Given the description of an element on the screen output the (x, y) to click on. 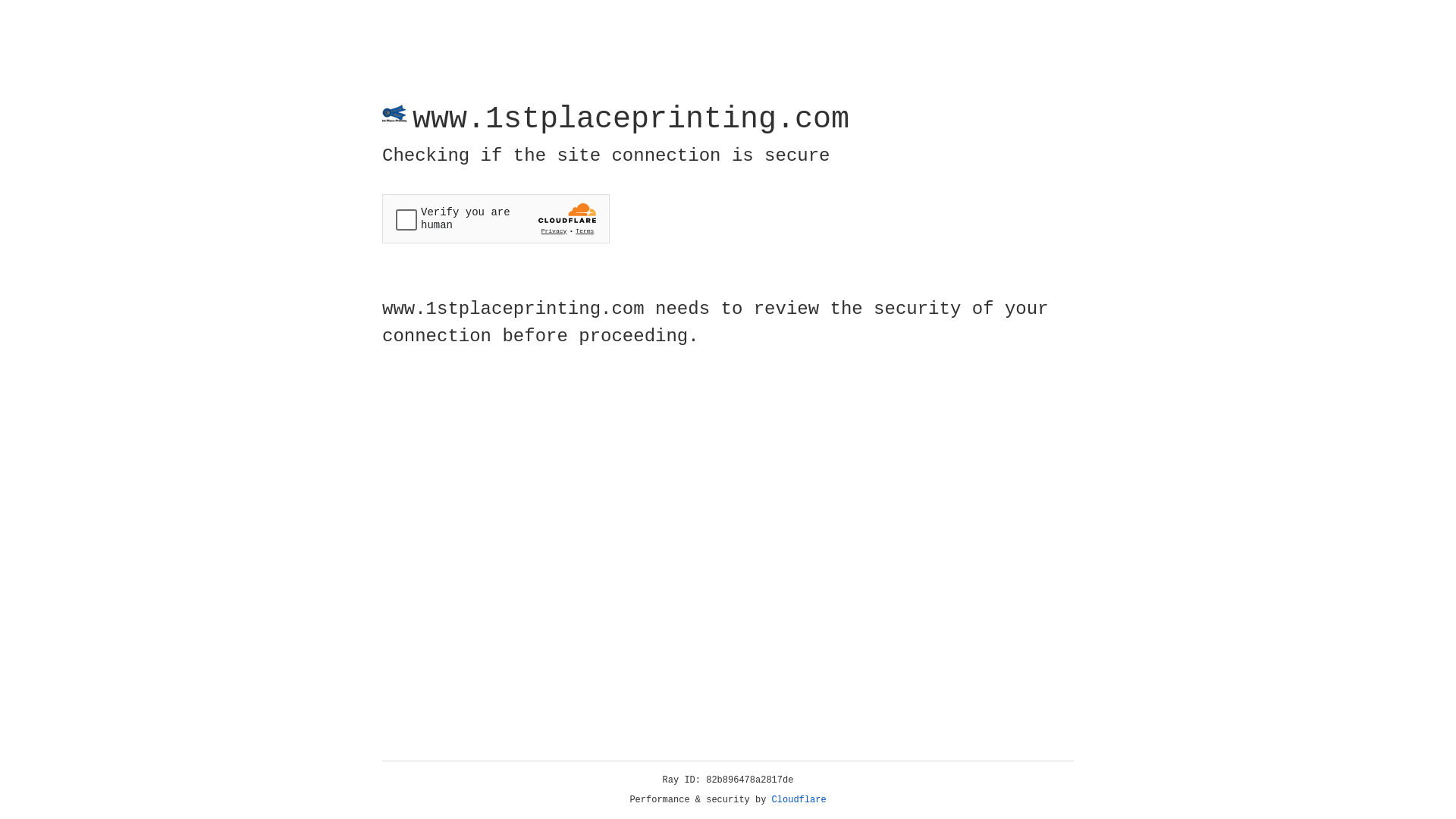
Cloudflare Element type: text (798, 799)
Widget containing a Cloudflare security challenge Element type: hover (495, 218)
